Given the description of an element on the screen output the (x, y) to click on. 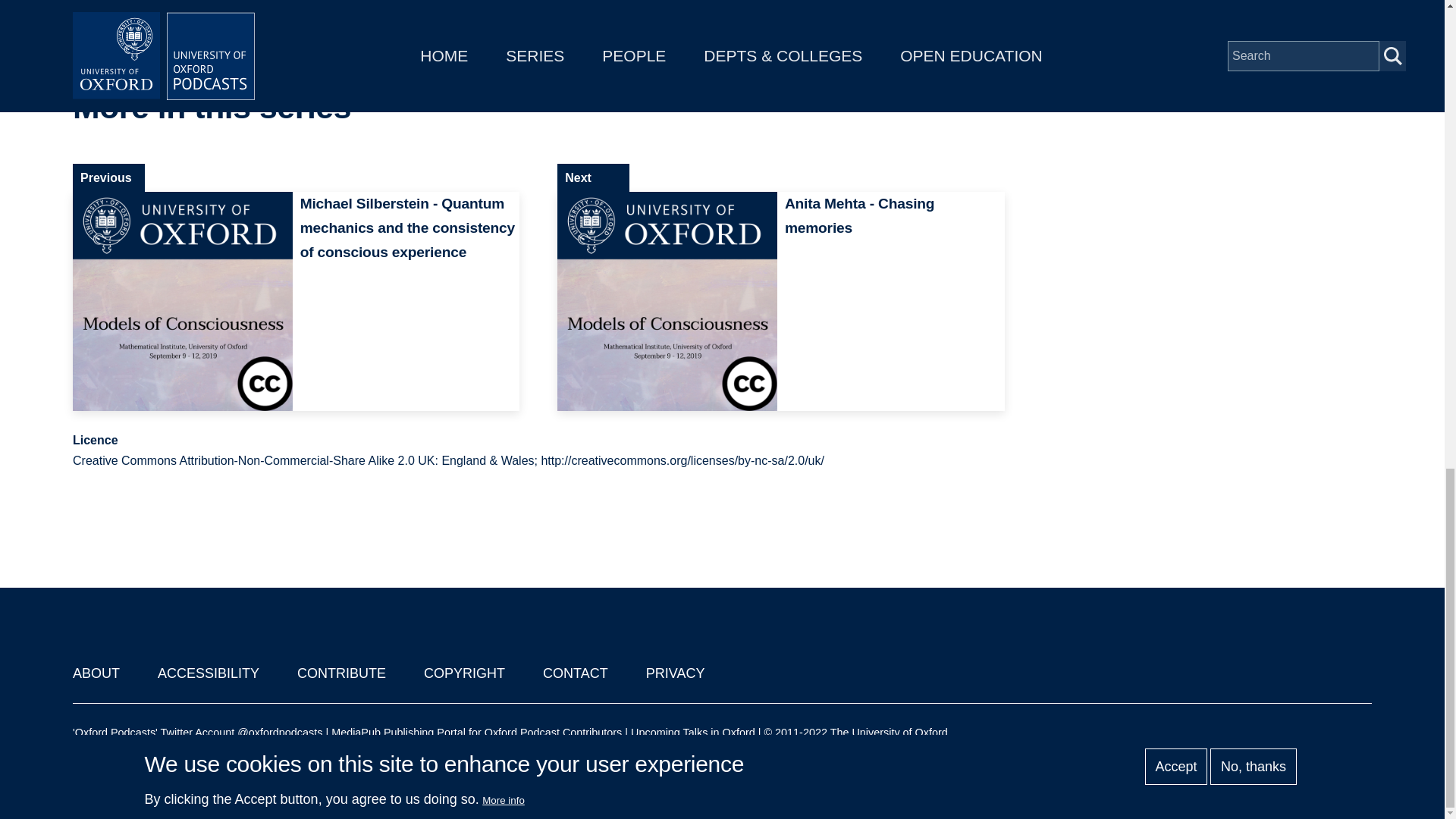
Upcoming Talks in Oxford (692, 732)
PRIVACY (675, 672)
ACCESSIBILITY (208, 672)
View Series (959, 107)
MediaPub Publishing Portal for Oxford Podcast Contributors (476, 732)
ABOUT (95, 672)
CONTRIBUTE (341, 672)
COPYRIGHT (464, 672)
CONTACT (575, 672)
